Given the description of an element on the screen output the (x, y) to click on. 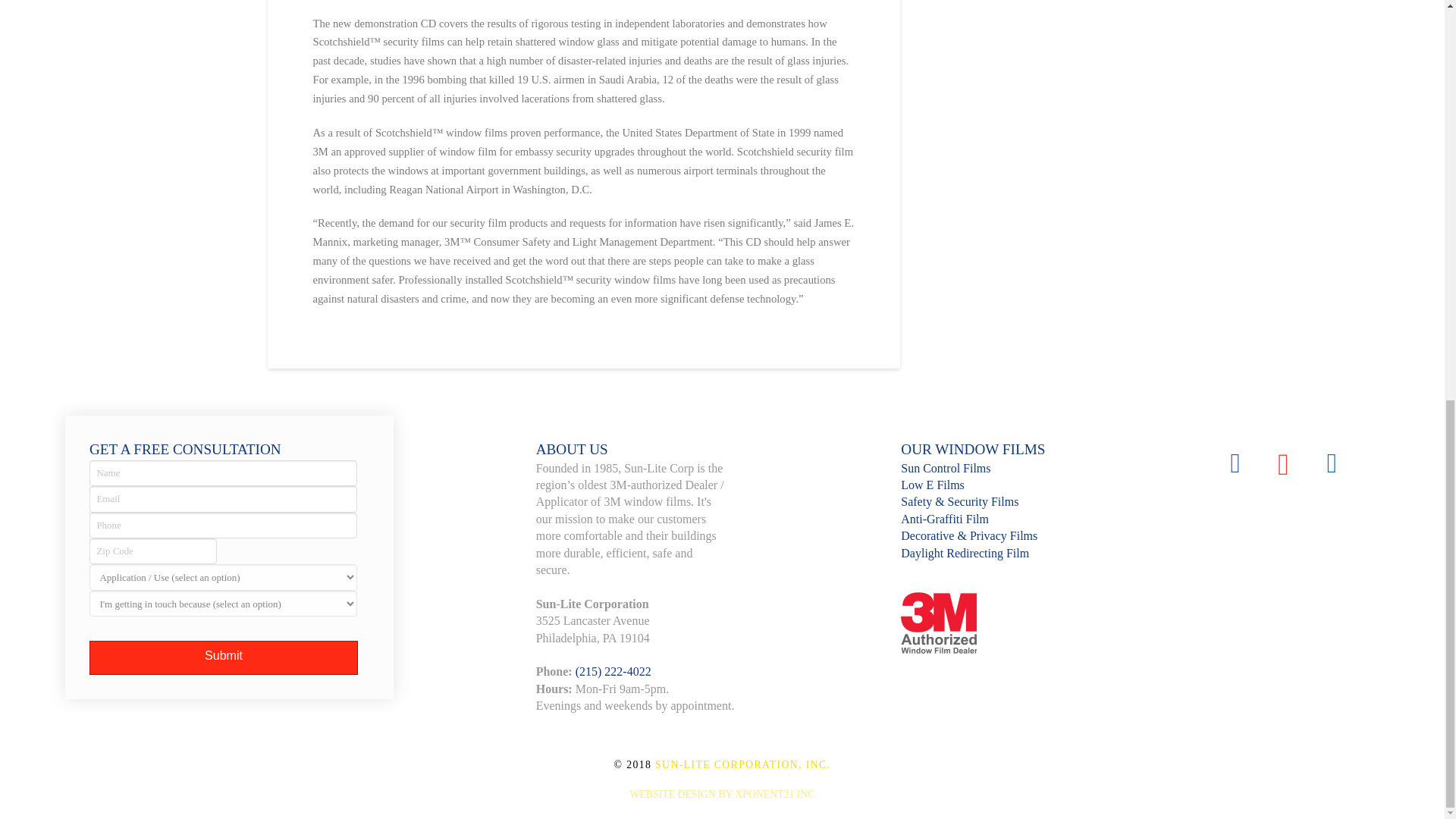
Sun Control Films (945, 468)
Submit (223, 657)
Low E Films (932, 484)
Submit (223, 657)
